Given the description of an element on the screen output the (x, y) to click on. 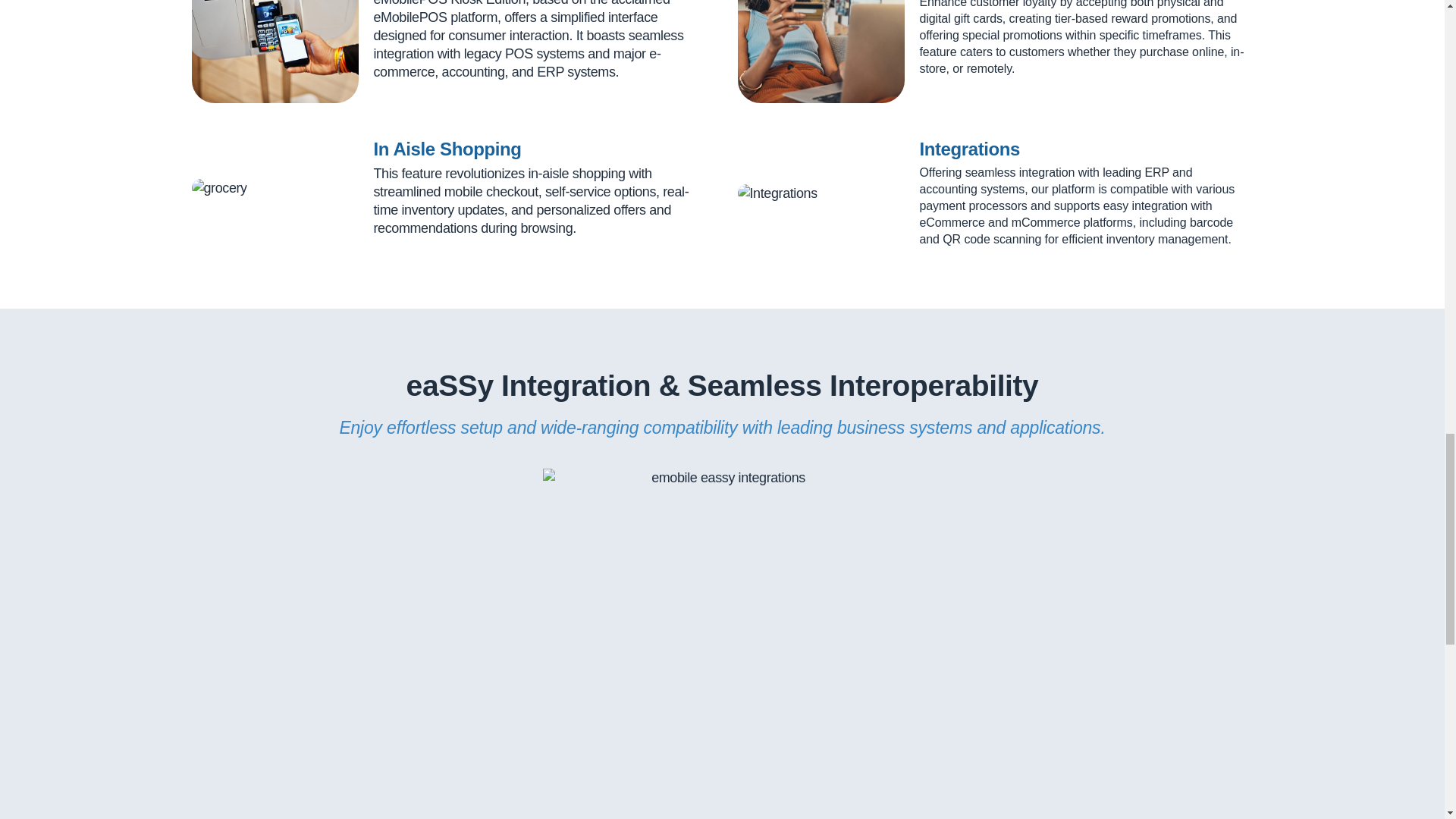
customer-loyalty (820, 51)
grocery (218, 188)
